Given the description of an element on the screen output the (x, y) to click on. 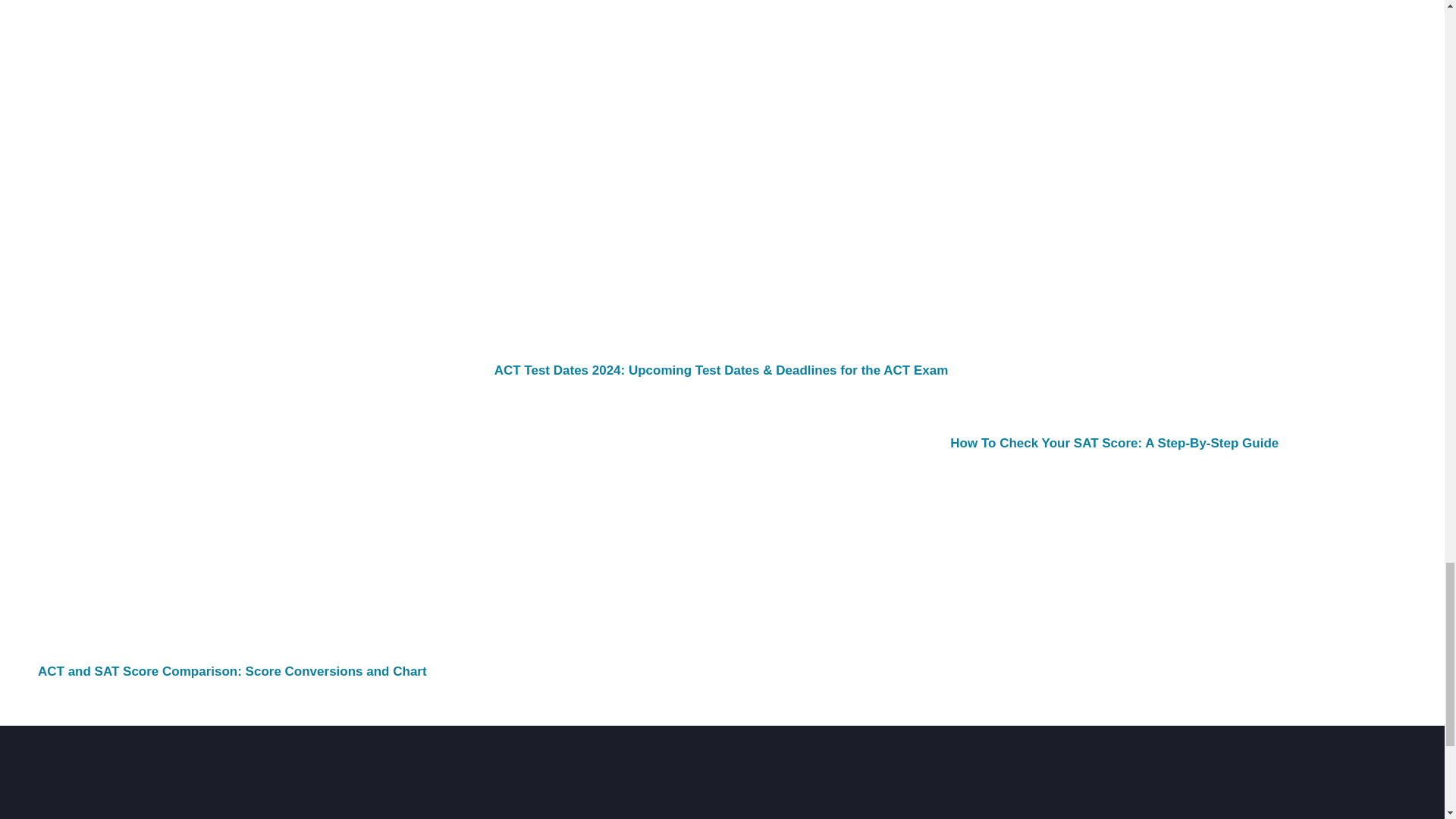
ACT and SAT Score Comparison: Score Conversions and Chart (231, 671)
How To Check Your SAT Score: A Step-By-Step Guide (1114, 442)
